Given the description of an element on the screen output the (x, y) to click on. 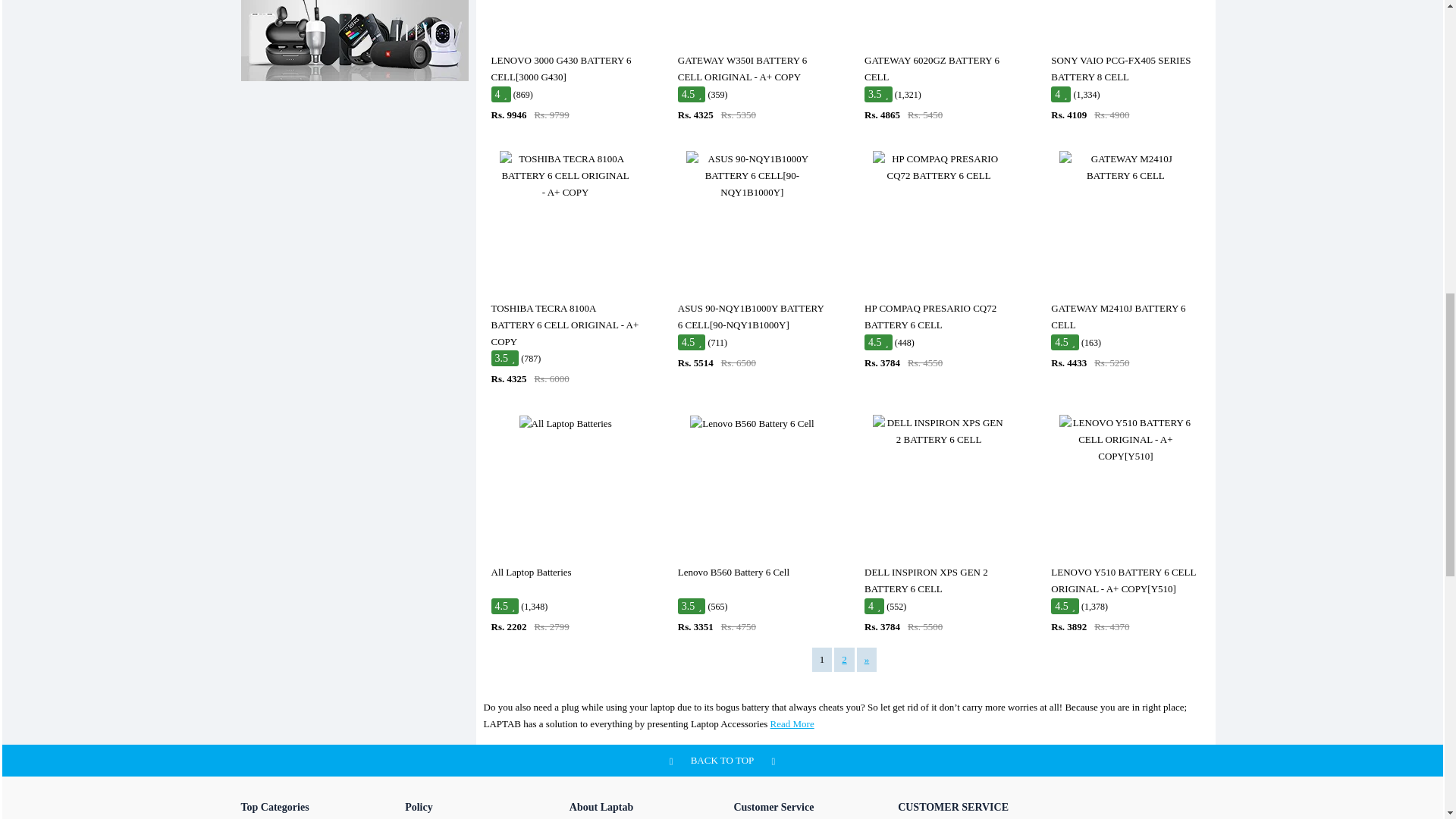
GATEWAY M2410J BATTERY 6 CELL (1125, 167)
All Laptop Batteries (565, 423)
HP COMPAQ PRESARIO CQ72 BATTERY 6 CELL (938, 167)
DELL INSPIRON XPS GEN 2 BATTERY 6 CELL (938, 430)
Lenovo B560 Battery 6 Cell (751, 423)
